Given the description of an element on the screen output the (x, y) to click on. 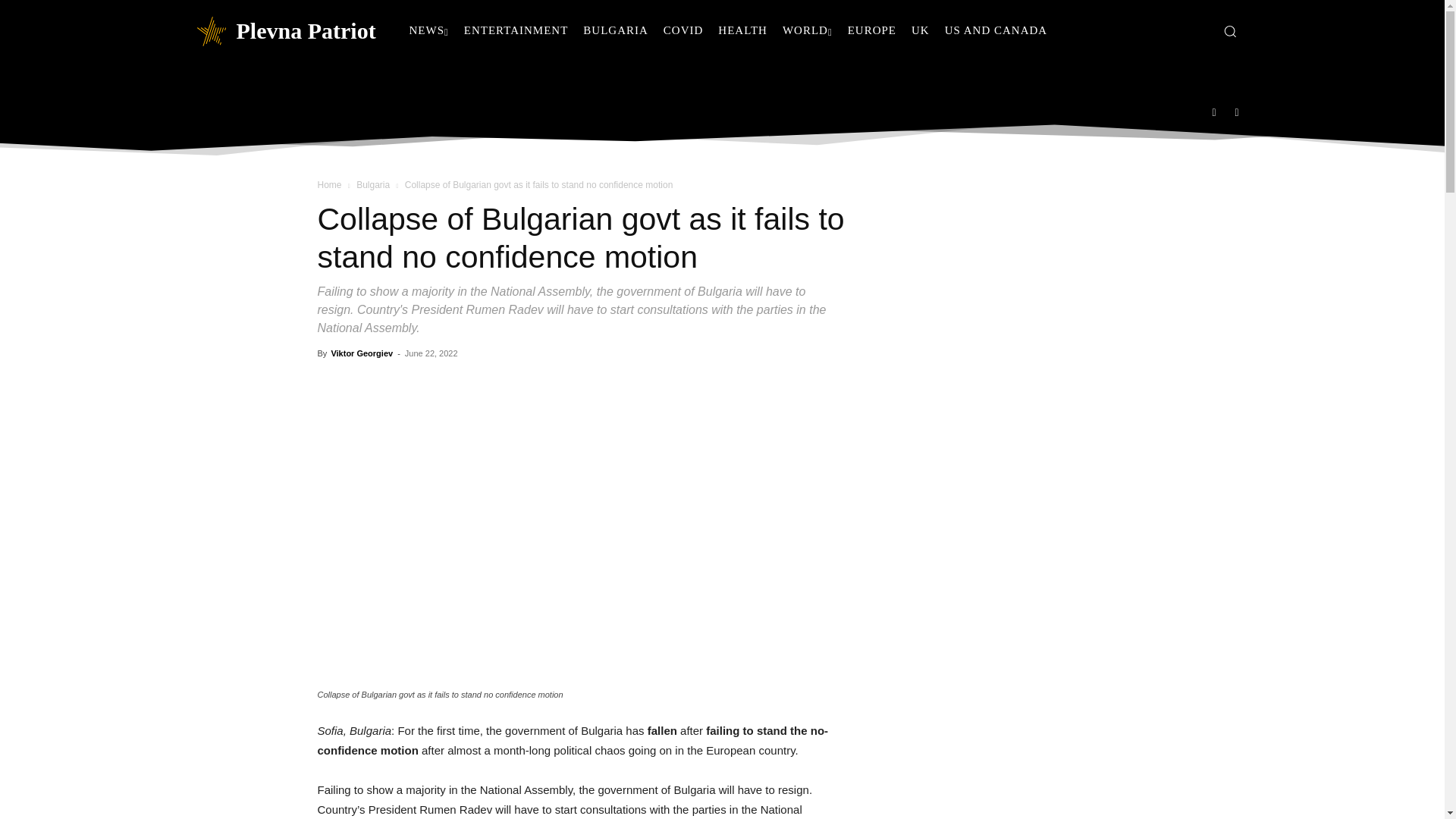
NEWS (429, 30)
Home (328, 184)
EUROPE (872, 30)
Plevna Patriot (284, 30)
Facebook (1214, 111)
WORLD (807, 30)
Twitter (1237, 111)
COVID (683, 30)
US AND CANADA (996, 30)
BULGARIA (615, 30)
